Given the description of an element on the screen output the (x, y) to click on. 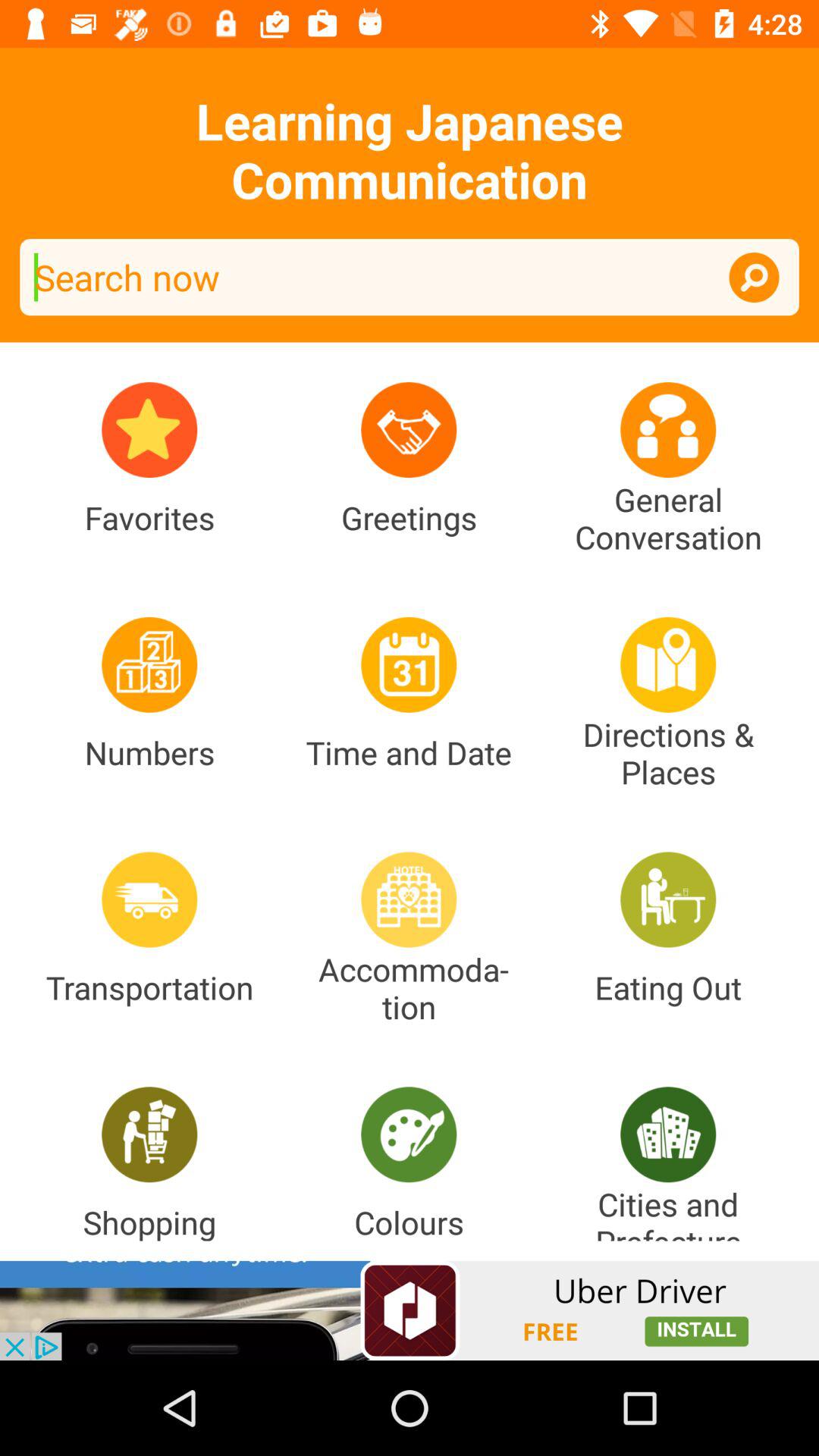
select shopping (149, 1134)
